Given the description of an element on the screen output the (x, y) to click on. 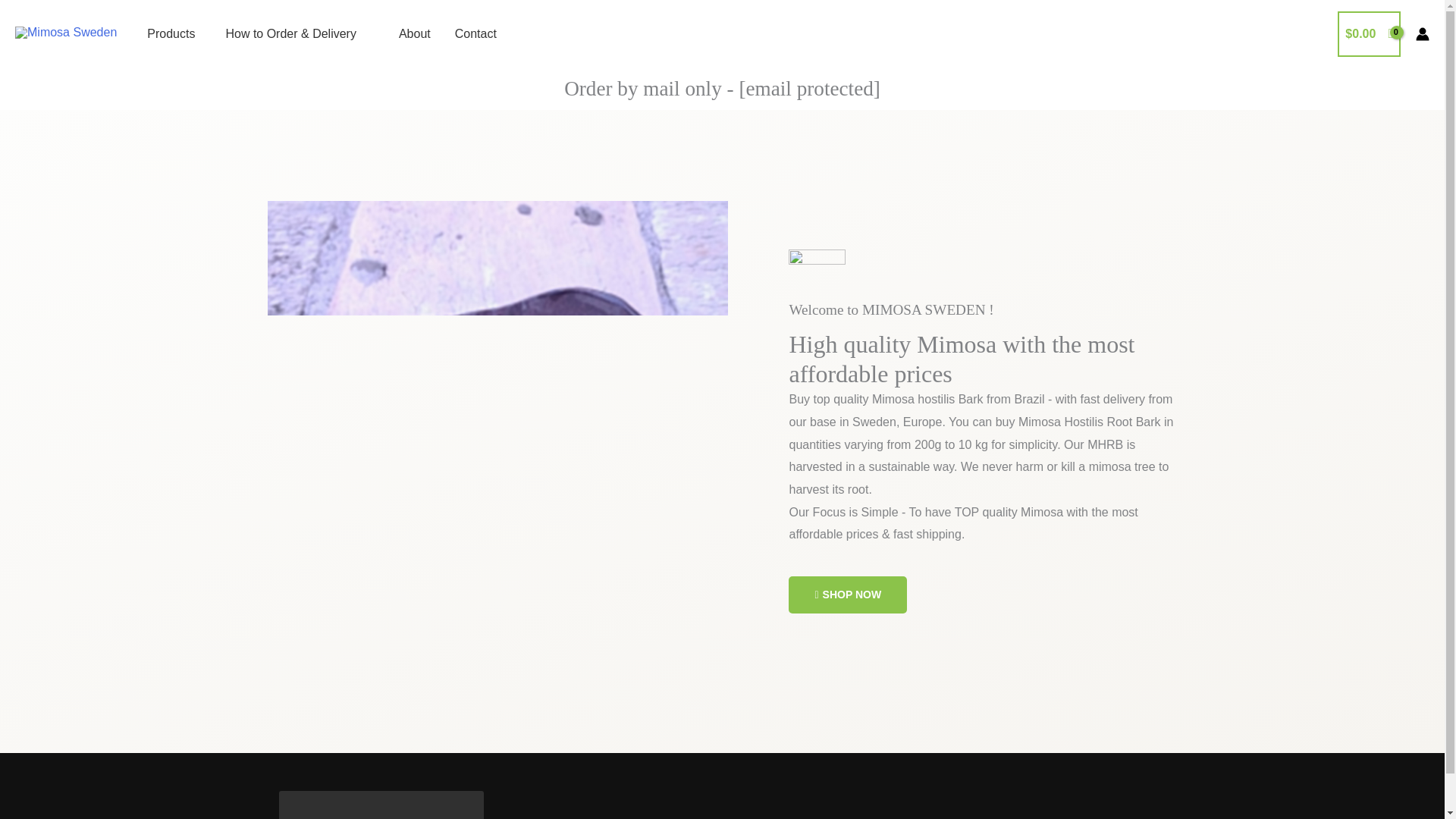
About (414, 34)
Contact (475, 34)
SHOP NOW (848, 594)
Products (170, 34)
